Given the description of an element on the screen output the (x, y) to click on. 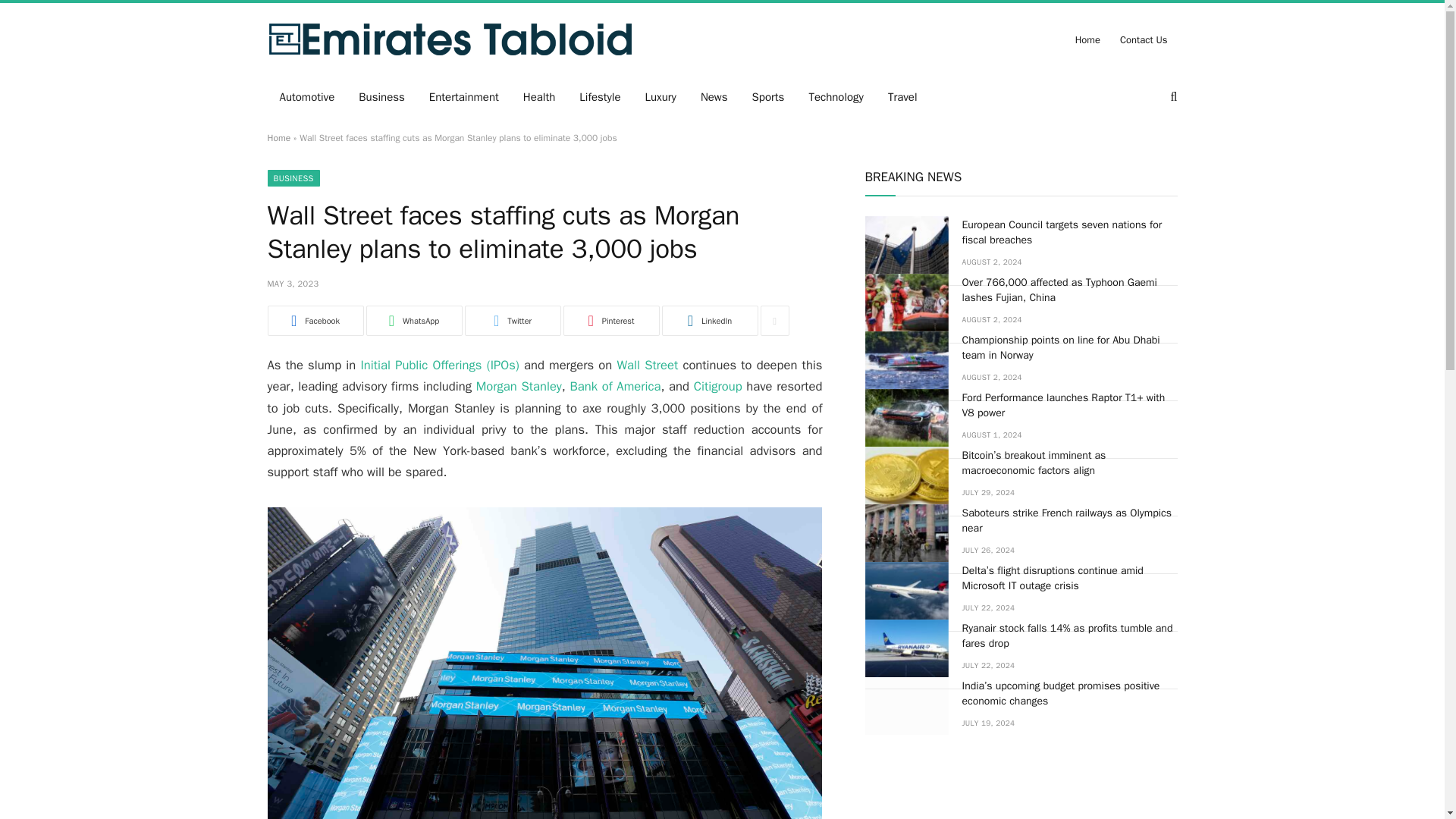
Business (381, 96)
Share on Pinterest (610, 320)
Sports (767, 96)
Home (277, 137)
Facebook (314, 320)
Entertainment (463, 96)
Automotive (306, 96)
LinkedIn (709, 320)
Share on Facebook (314, 320)
Lifestyle (599, 96)
Travel (903, 96)
Share on WhatsApp (413, 320)
News (713, 96)
Wall Street (646, 365)
Health (539, 96)
